Given the description of an element on the screen output the (x, y) to click on. 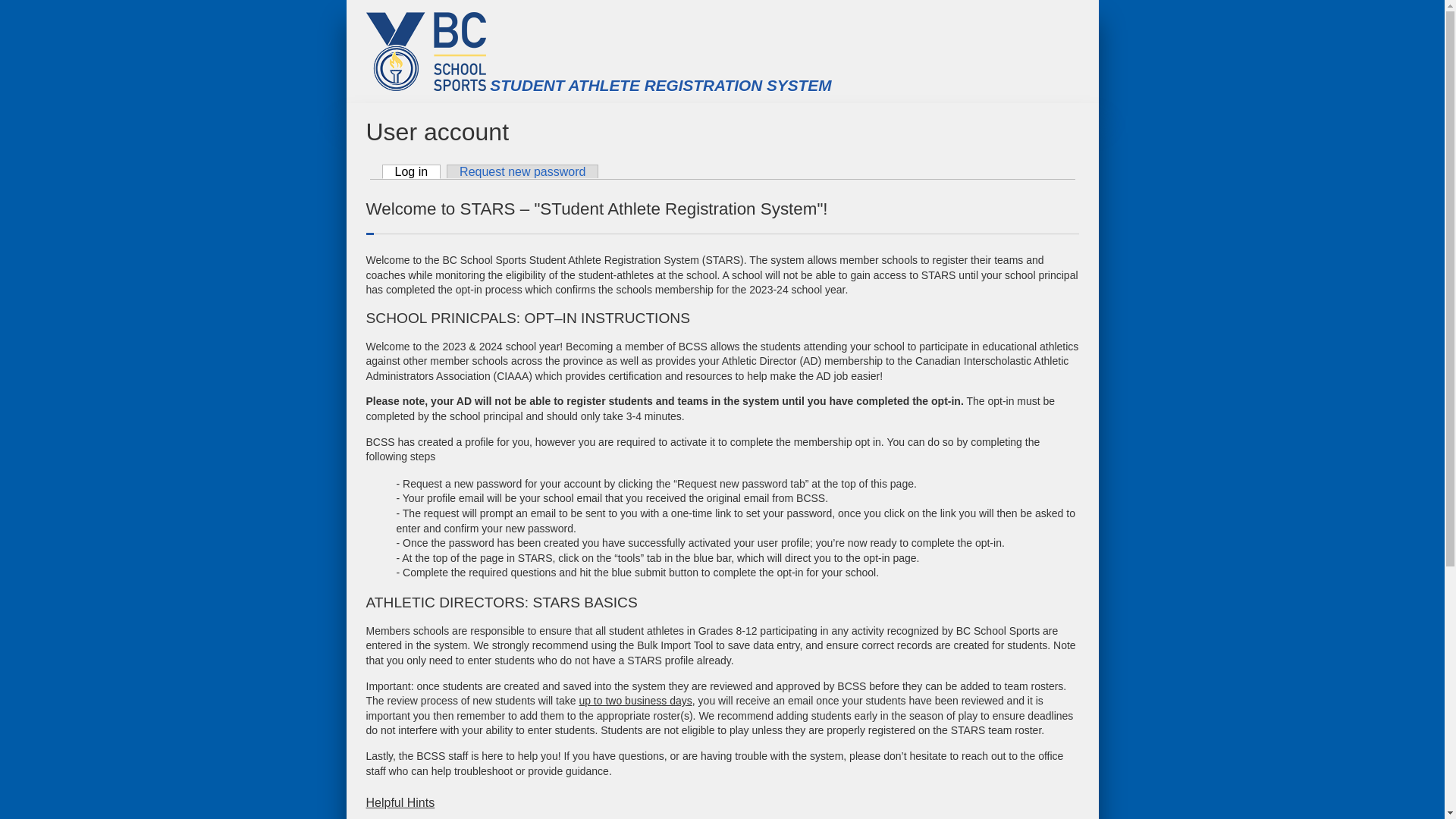
Request new password (522, 171)
BC School Sports - STARS (424, 50)
